Given the description of an element on the screen output the (x, y) to click on. 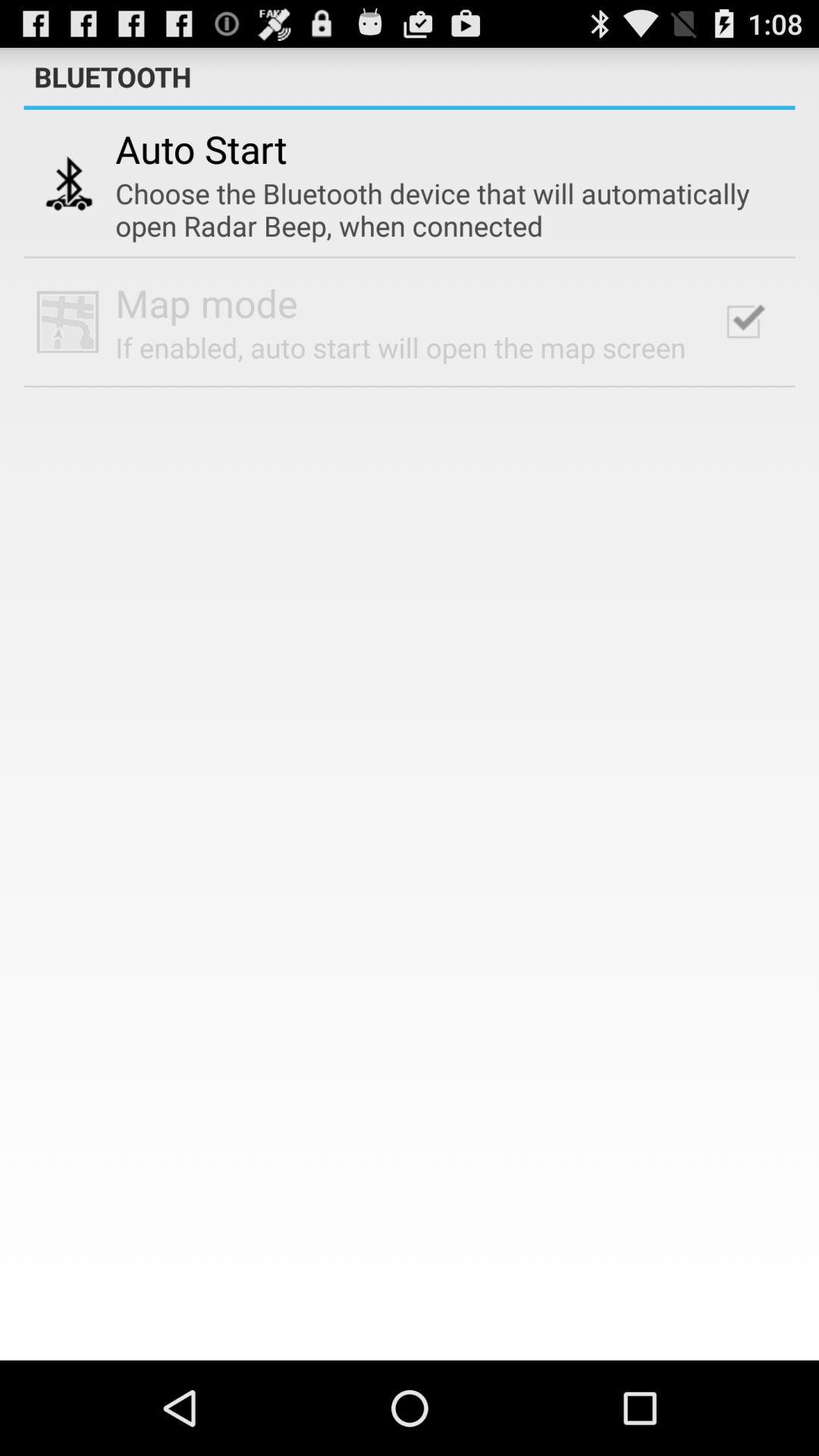
choose item below map mode icon (400, 347)
